Given the description of an element on the screen output the (x, y) to click on. 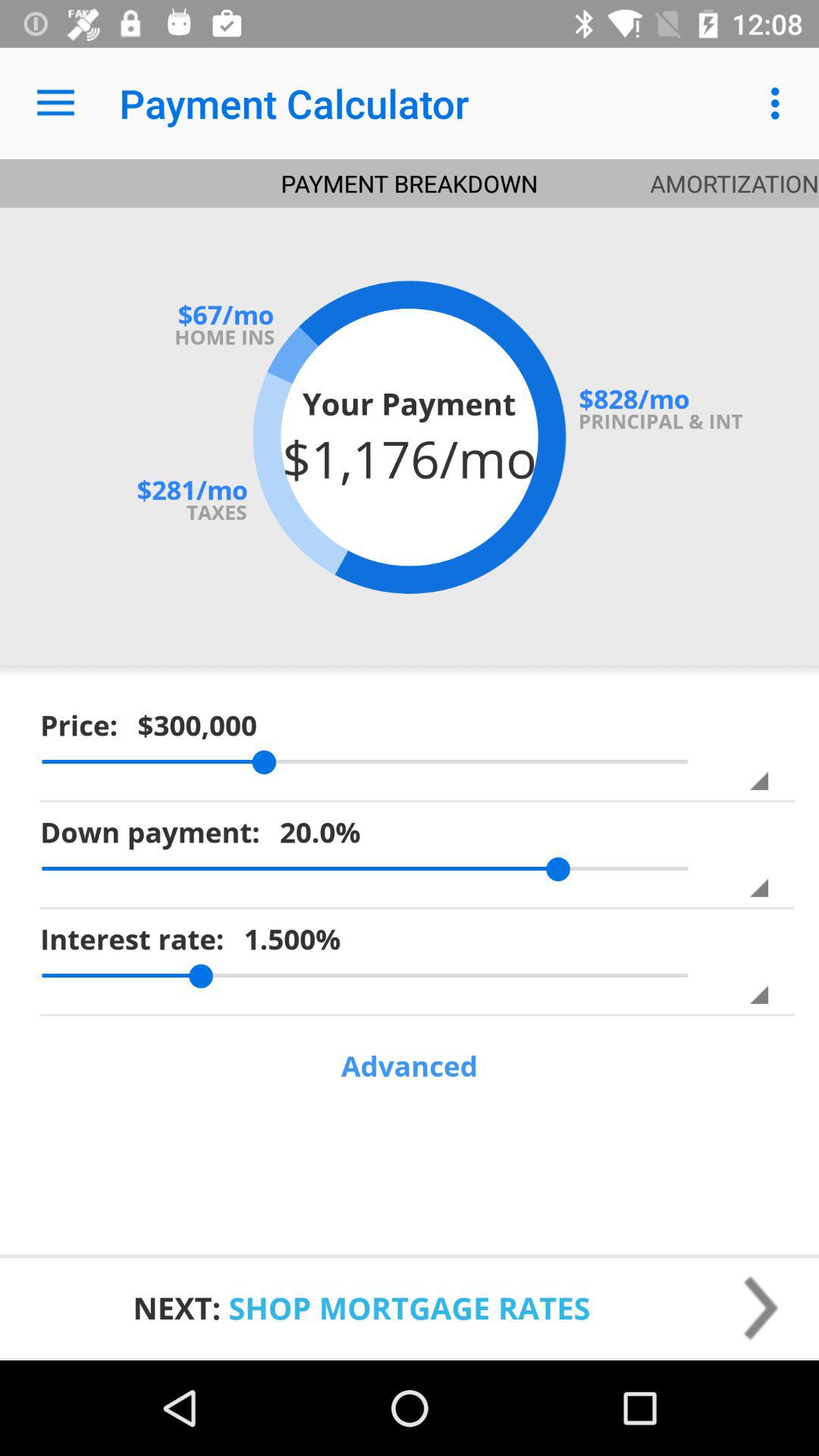
click the icon at the top left corner (55, 103)
